Given the description of an element on the screen output the (x, y) to click on. 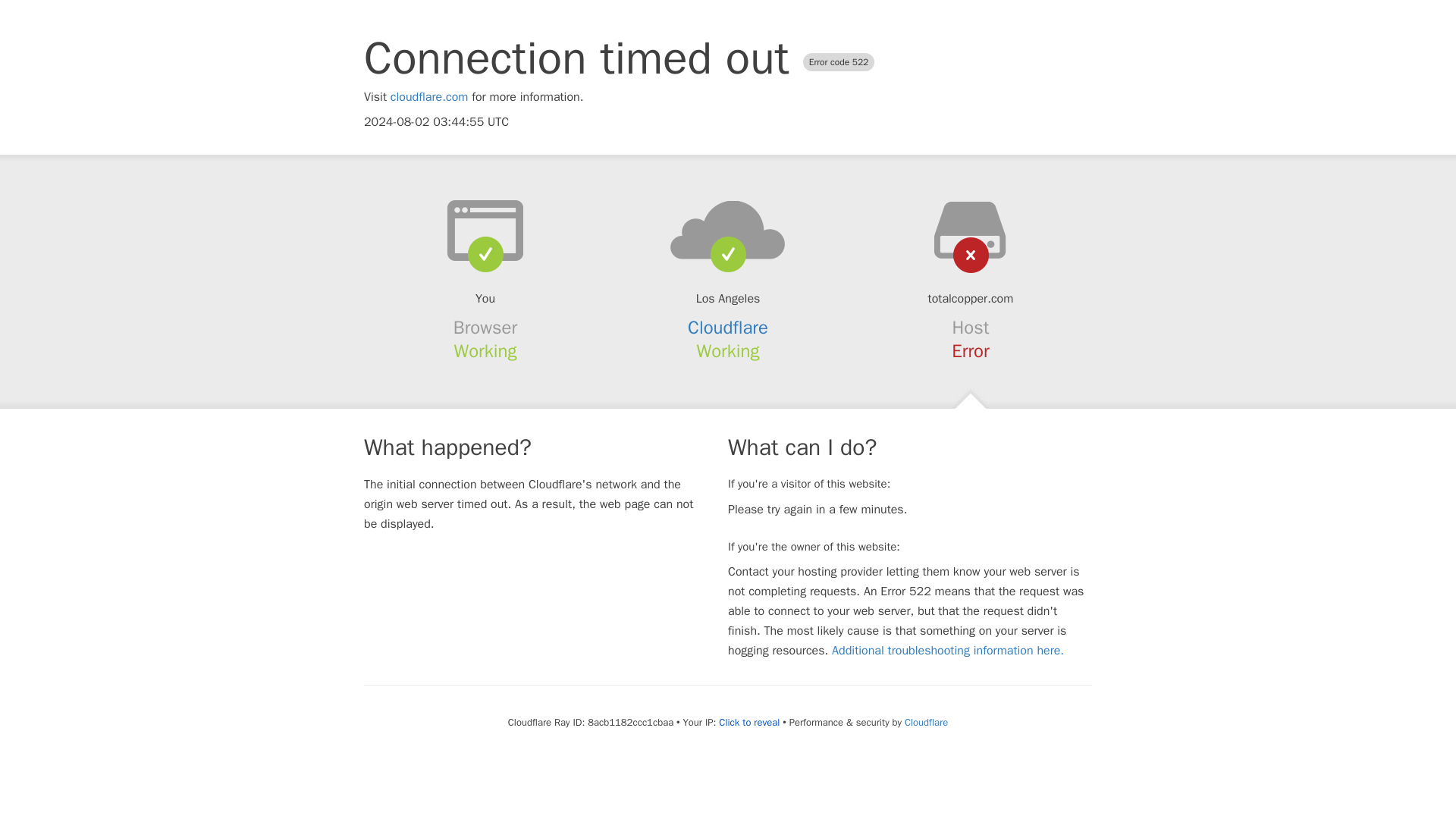
Click to reveal (748, 722)
Cloudflare (925, 721)
Cloudflare (727, 327)
Additional troubleshooting information here. (947, 650)
cloudflare.com (429, 96)
